Given the description of an element on the screen output the (x, y) to click on. 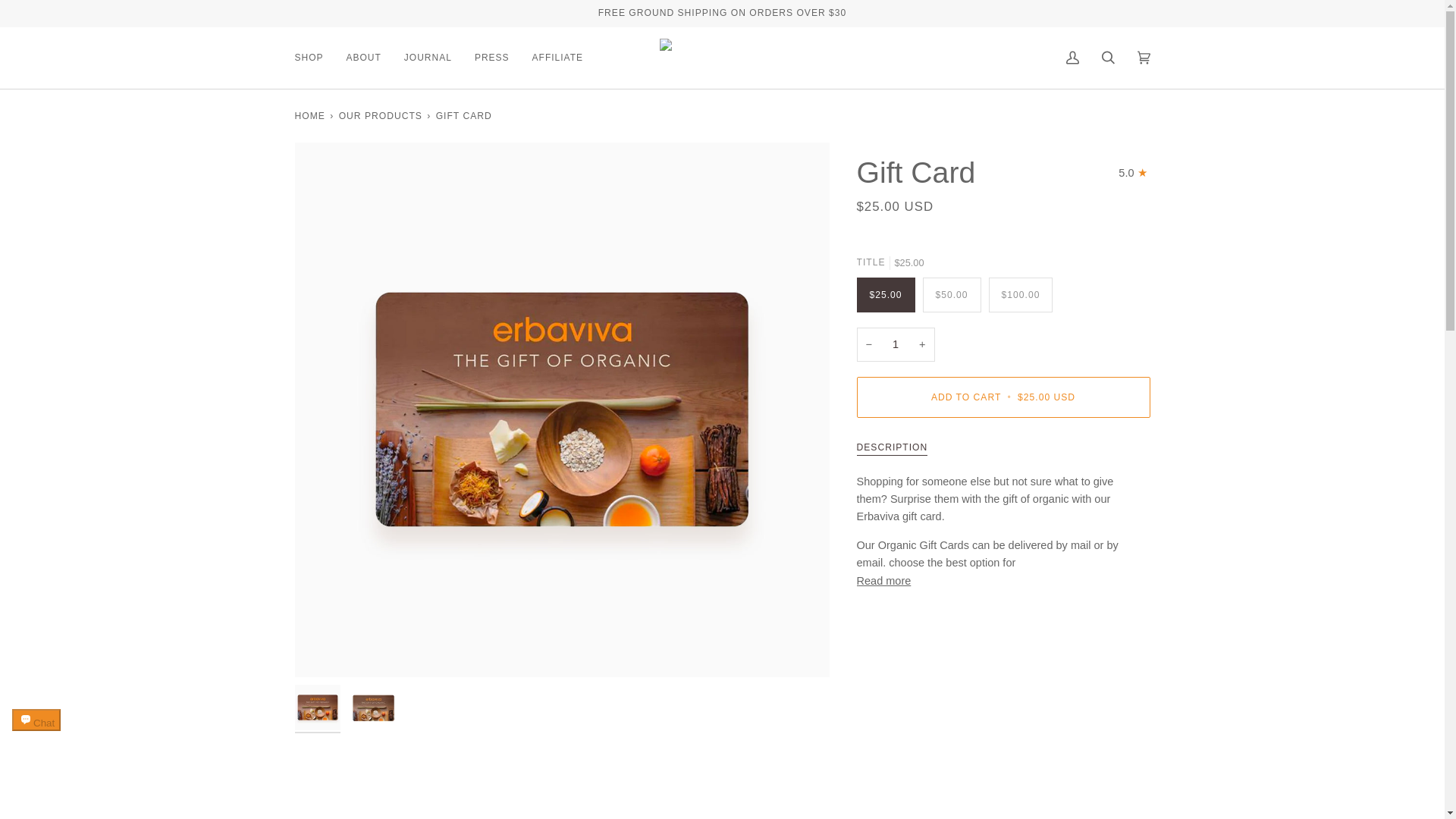
JOURNAL (428, 57)
Back to the frontpage (310, 115)
Shopify online store chat (36, 733)
1 (895, 344)
ABOUT (363, 57)
PRESS (492, 57)
AFFILIATE (557, 57)
